Given the description of an element on the screen output the (x, y) to click on. 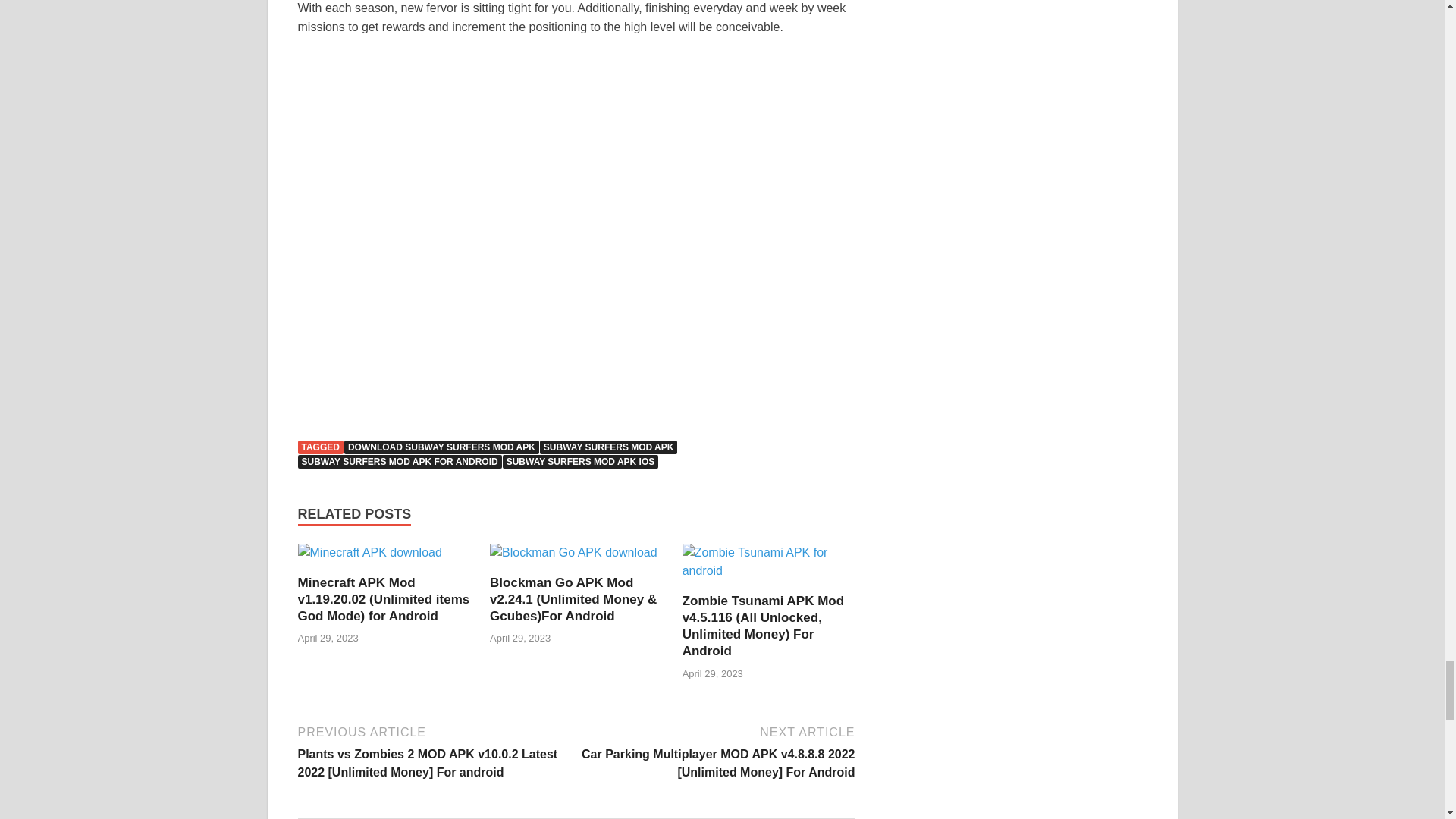
SUBWAY SURFERS MOD APK (609, 447)
DOWNLOAD SUBWAY SURFERS MOD APK (440, 447)
SUBWAY SURFERS MOD APK IOS (580, 461)
SUBWAY SURFERS MOD APK FOR ANDROID (398, 461)
